Given the description of an element on the screen output the (x, y) to click on. 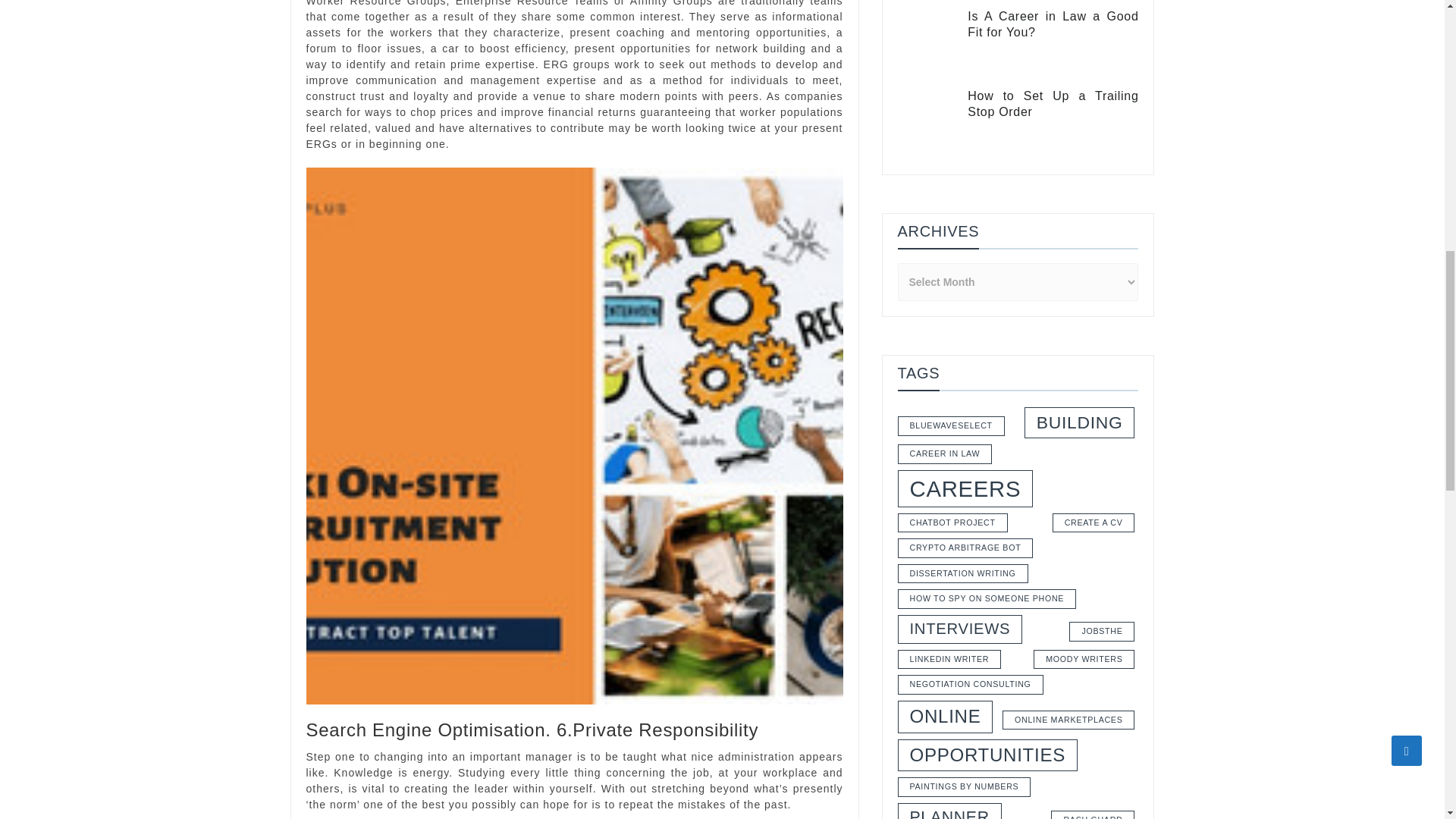
CRYPTO ARBITRAGE BOT (965, 293)
BLUEWAVESELECT (951, 170)
CHATBOT PROJECT (952, 268)
CAREERS (965, 233)
CAREER IN LAW (945, 199)
BUILDING (1080, 167)
CREATE A CV (1093, 268)
